Given the description of an element on the screen output the (x, y) to click on. 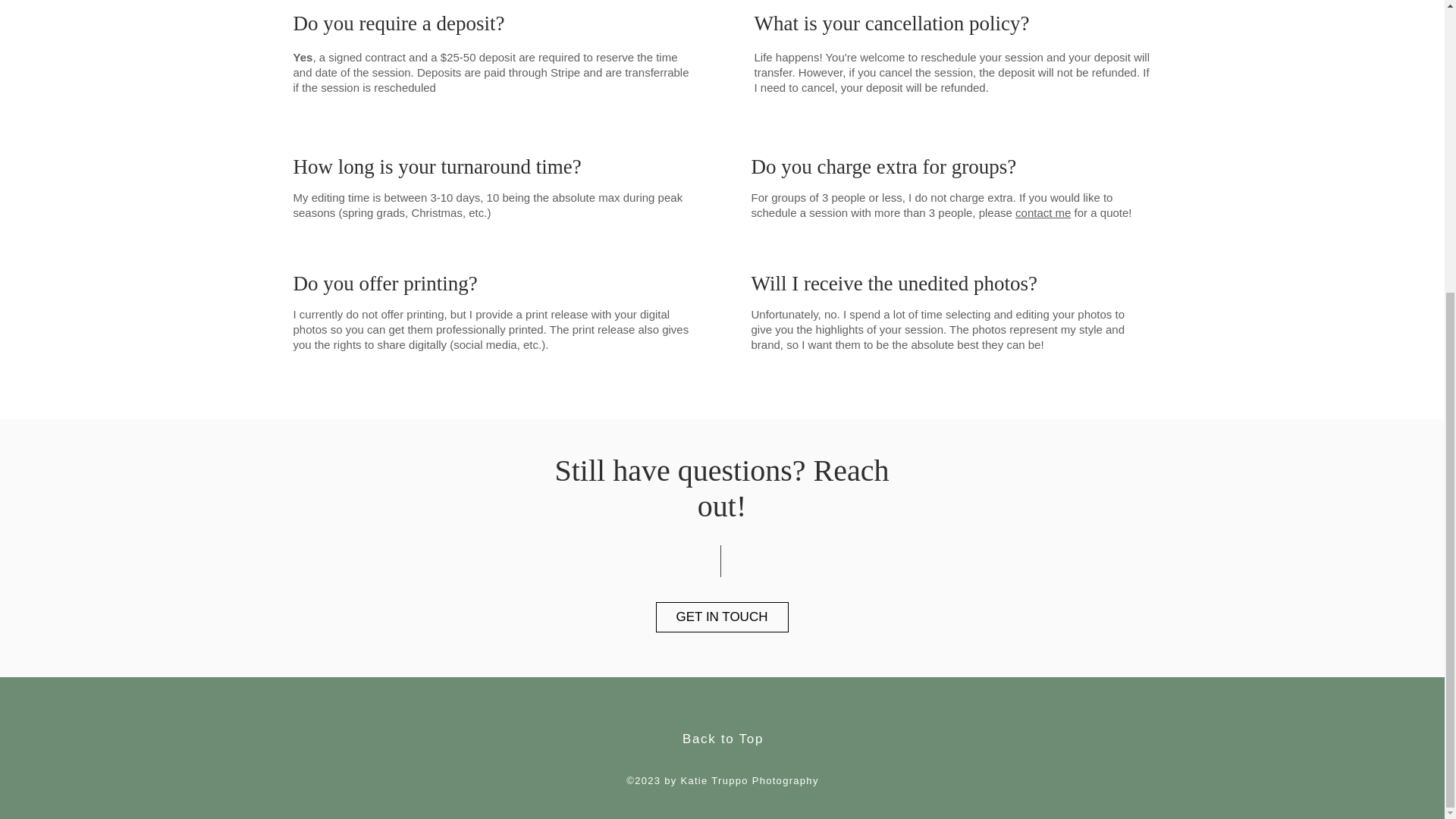
GET IN TOUCH (721, 616)
Back to Top (722, 739)
contact me (1042, 212)
